Given the description of an element on the screen output the (x, y) to click on. 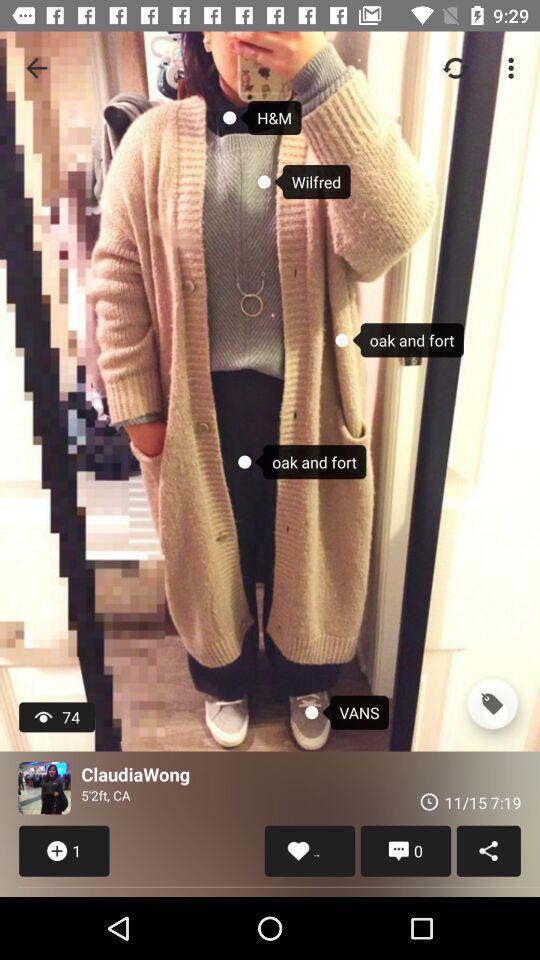
press to tag (492, 704)
